Given the description of an element on the screen output the (x, y) to click on. 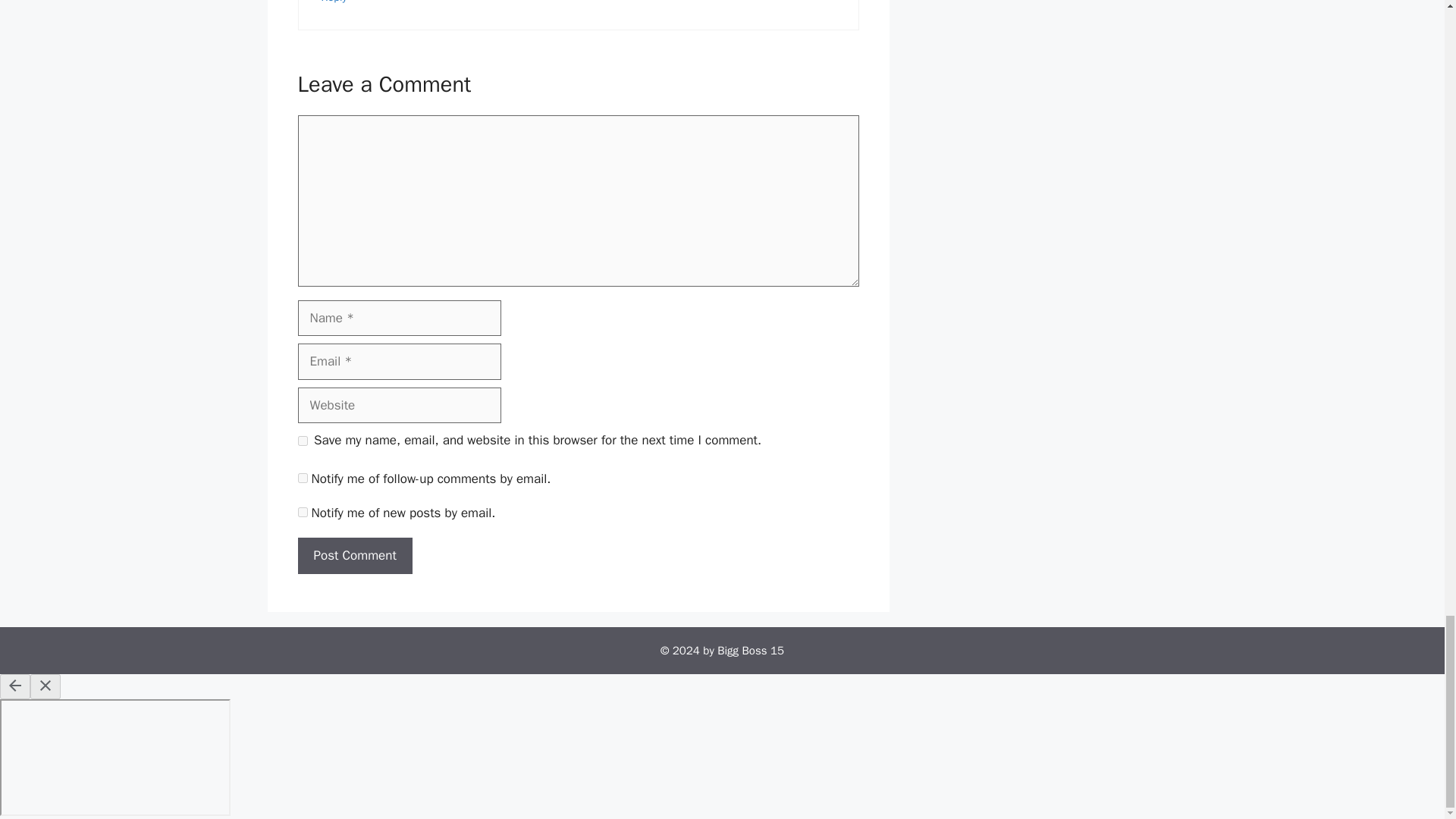
Post Comment (354, 555)
Post Comment (354, 555)
yes (302, 440)
subscribe (302, 511)
Reply (334, 2)
subscribe (302, 478)
